Given the description of an element on the screen output the (x, y) to click on. 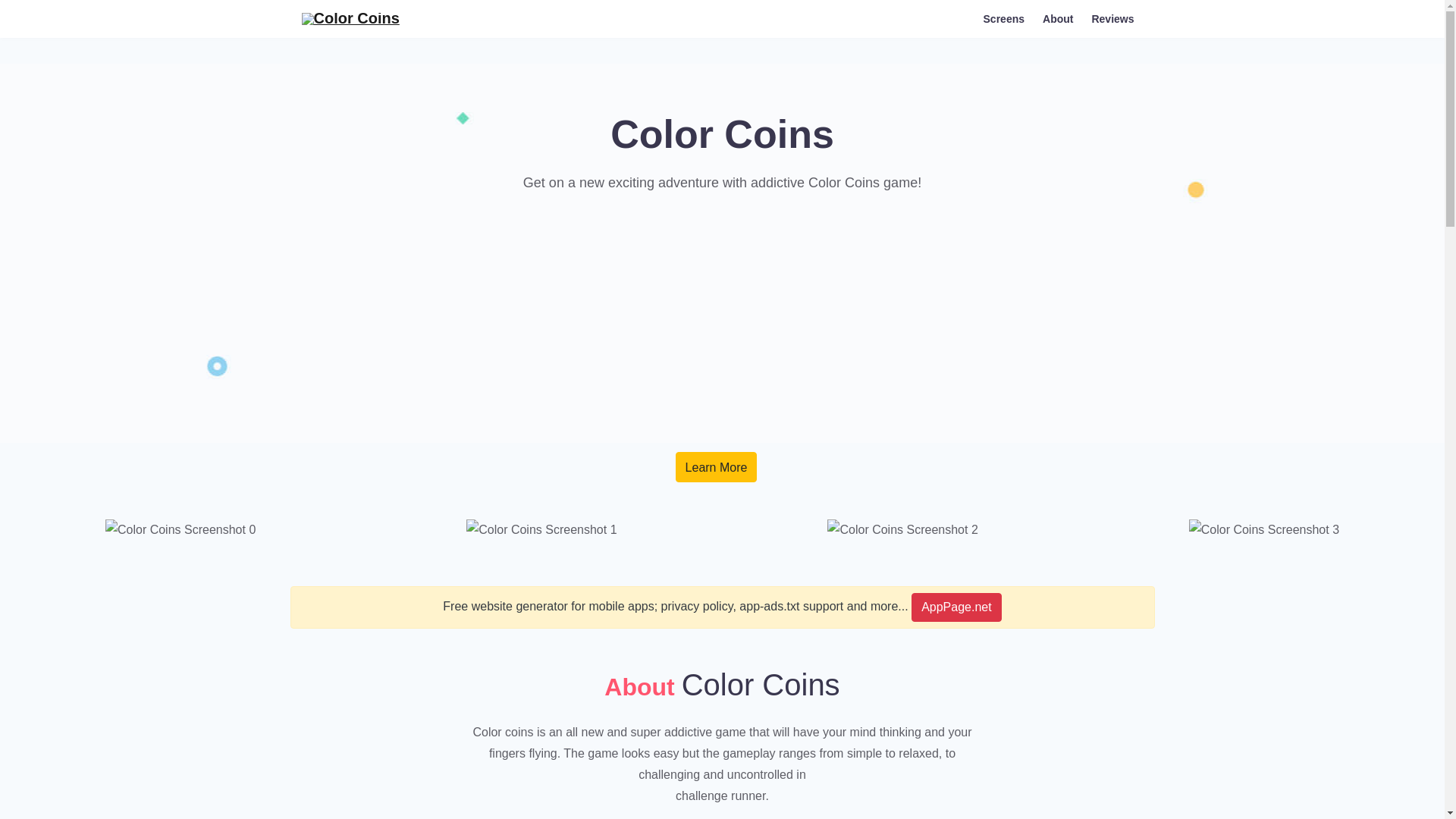
Screens (1003, 18)
AppPage.net (956, 606)
Learn More (716, 467)
Learn More (716, 467)
Learn More (716, 467)
Screens (1003, 18)
About (1057, 18)
About (1057, 18)
Reviews (1111, 18)
